Given the description of an element on the screen output the (x, y) to click on. 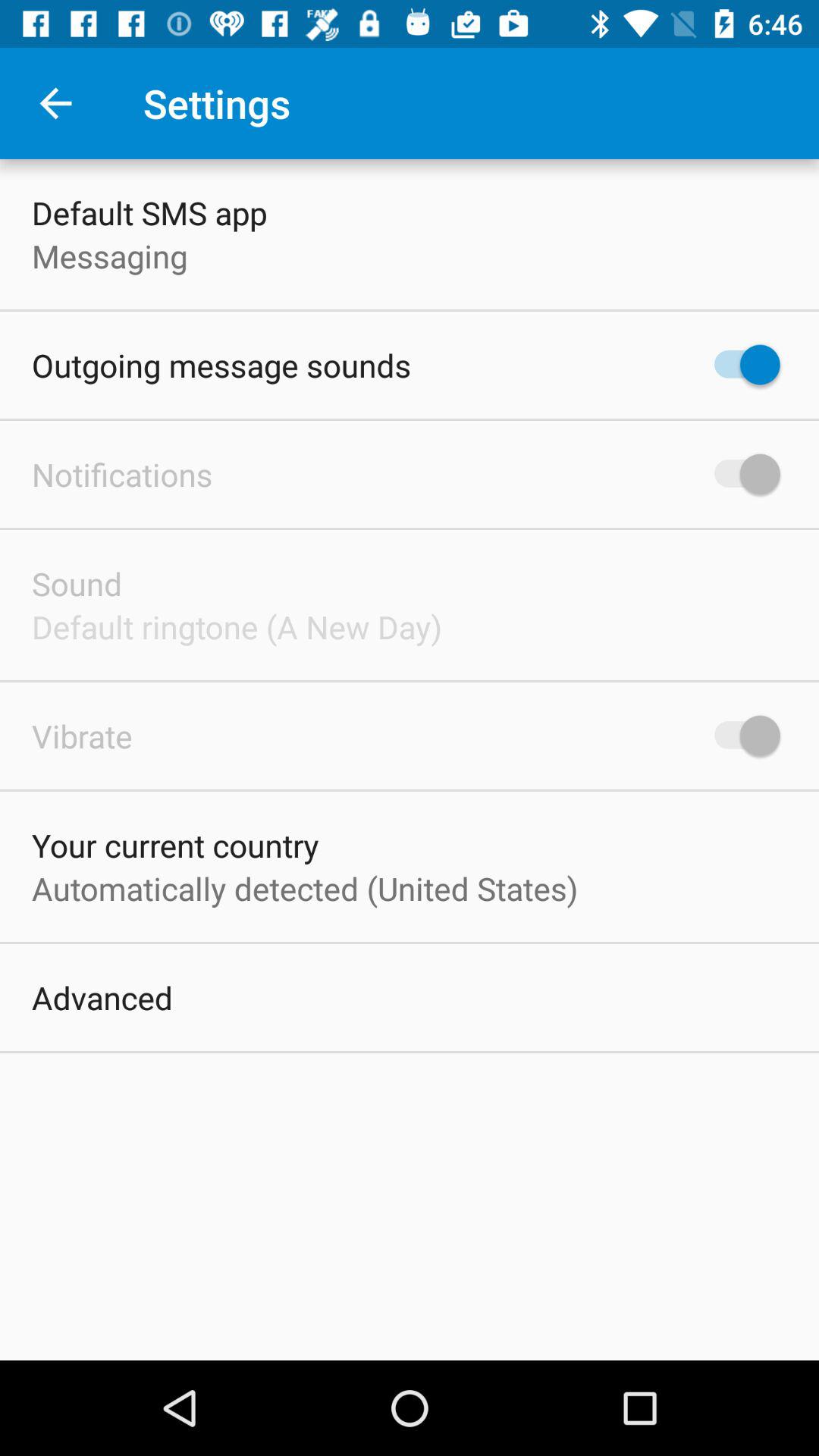
click app to the left of the settings (55, 103)
